Given the description of an element on the screen output the (x, y) to click on. 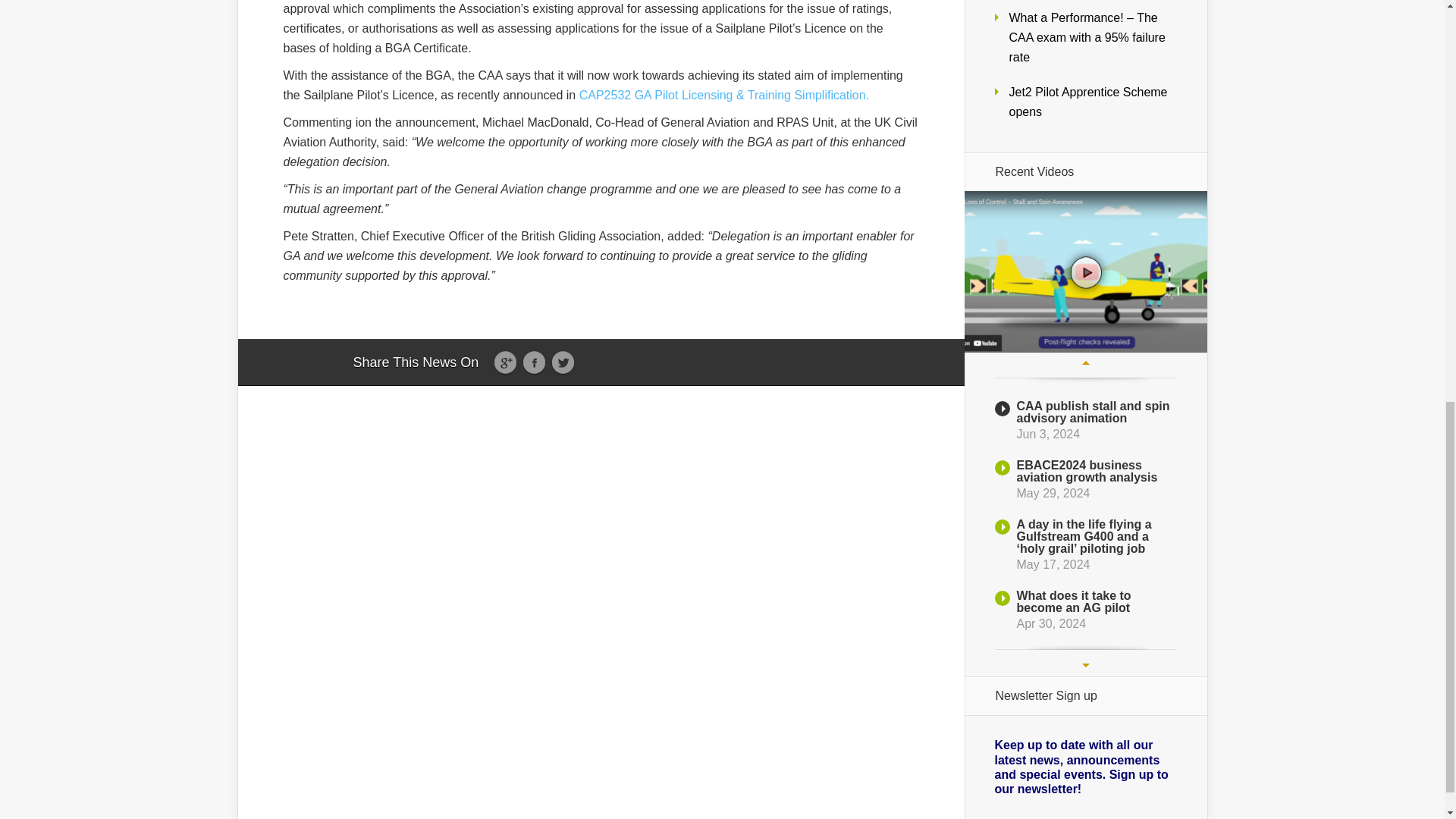
Facebook (534, 363)
Next (1085, 665)
Previous (1085, 362)
Twitter (563, 363)
Previous (1085, 362)
Google (504, 363)
Next (1085, 665)
Jet2 Pilot Apprentice Scheme opens (1088, 101)
